Given the description of an element on the screen output the (x, y) to click on. 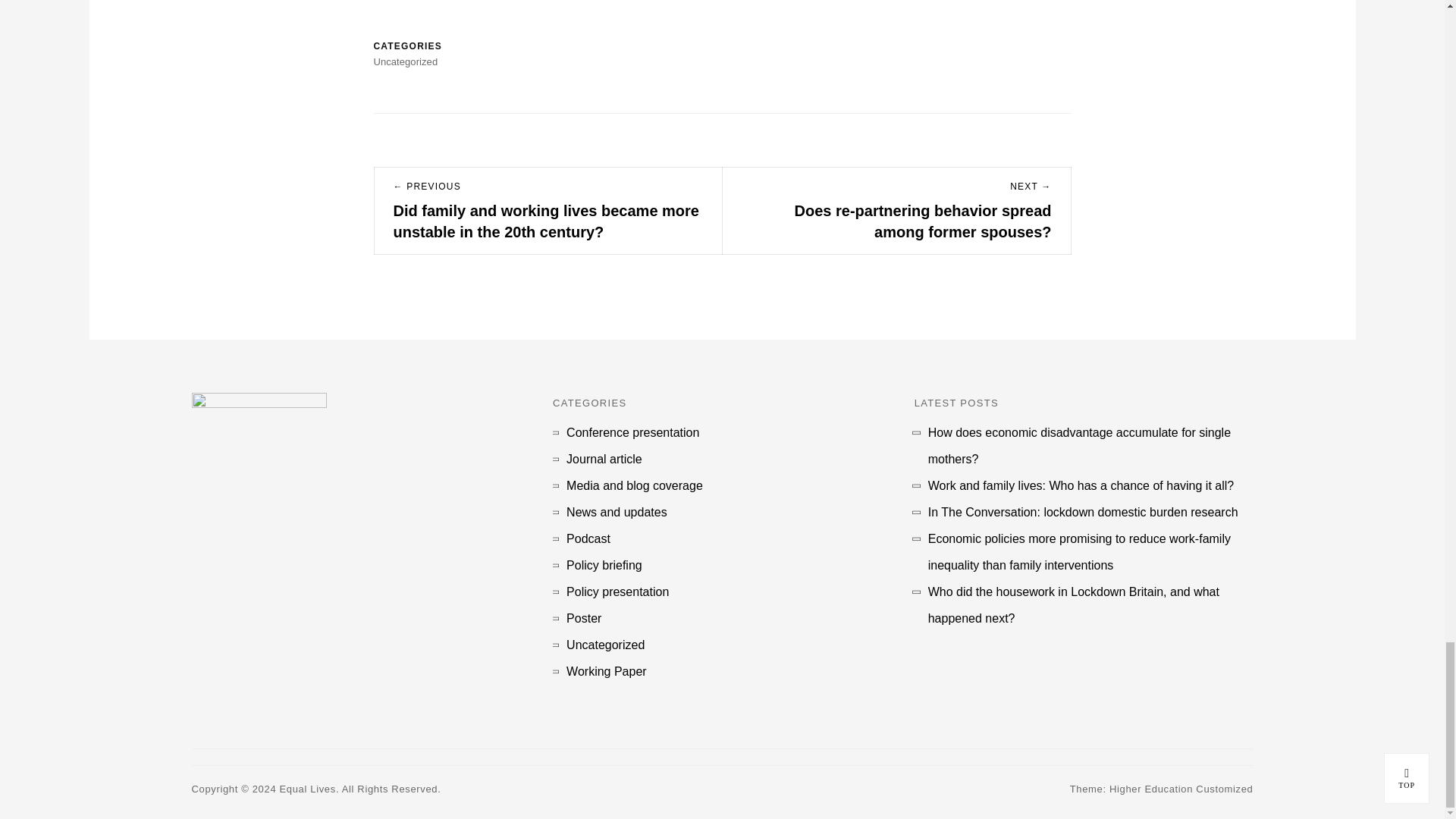
Equal Lives (307, 788)
Higher Education Customized (1181, 788)
In The Conversation: lockdown domestic burden research (1083, 512)
Podcast (588, 538)
Work and family lives: Who has a chance of having it all? (1080, 485)
News and updates (616, 511)
Uncategorized (605, 644)
Conference presentation (632, 432)
Working Paper (606, 671)
Journal article (604, 458)
Poster (583, 618)
